Given the description of an element on the screen output the (x, y) to click on. 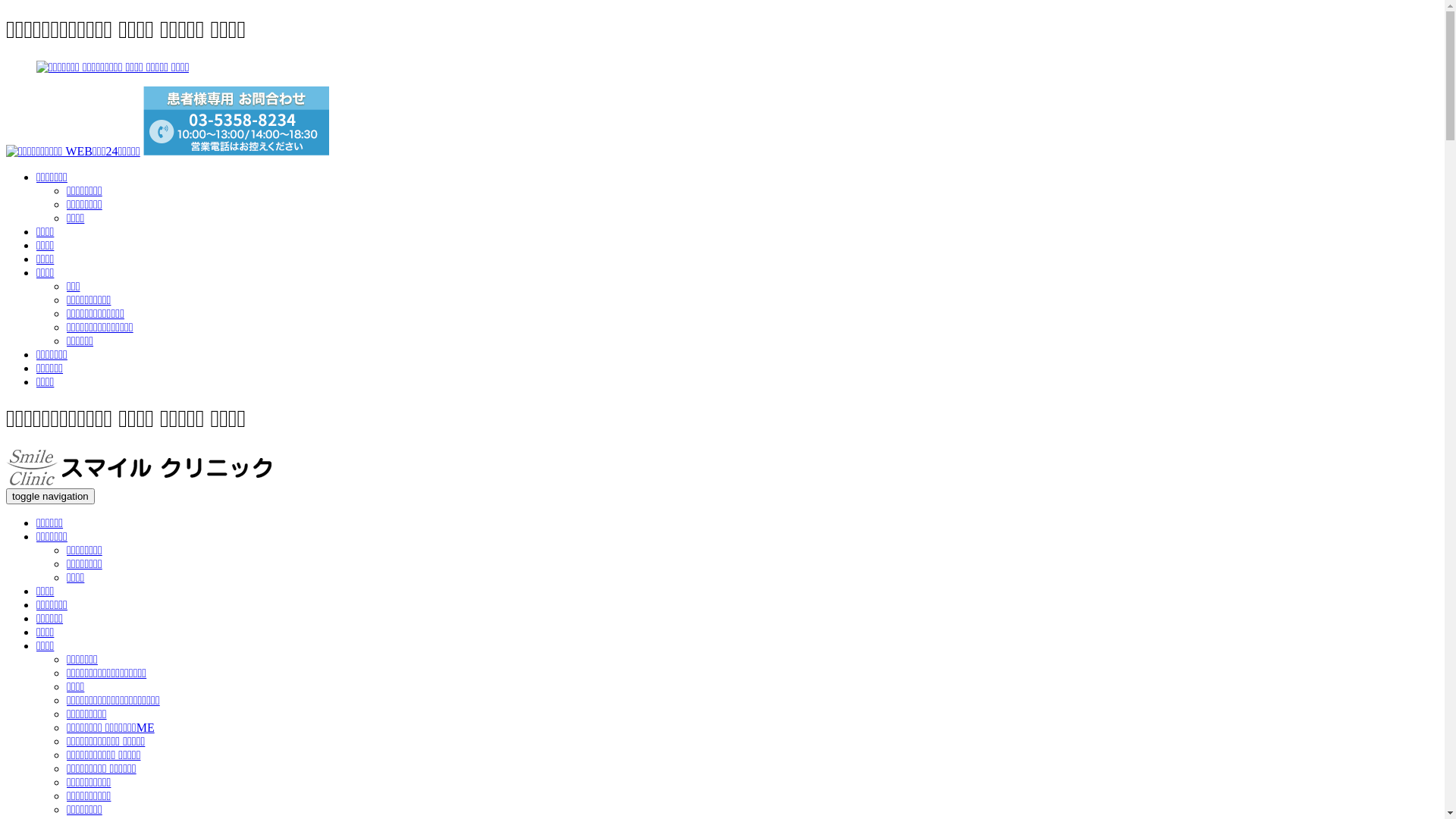
toggle navigation Element type: text (50, 496)
